Given the description of an element on the screen output the (x, y) to click on. 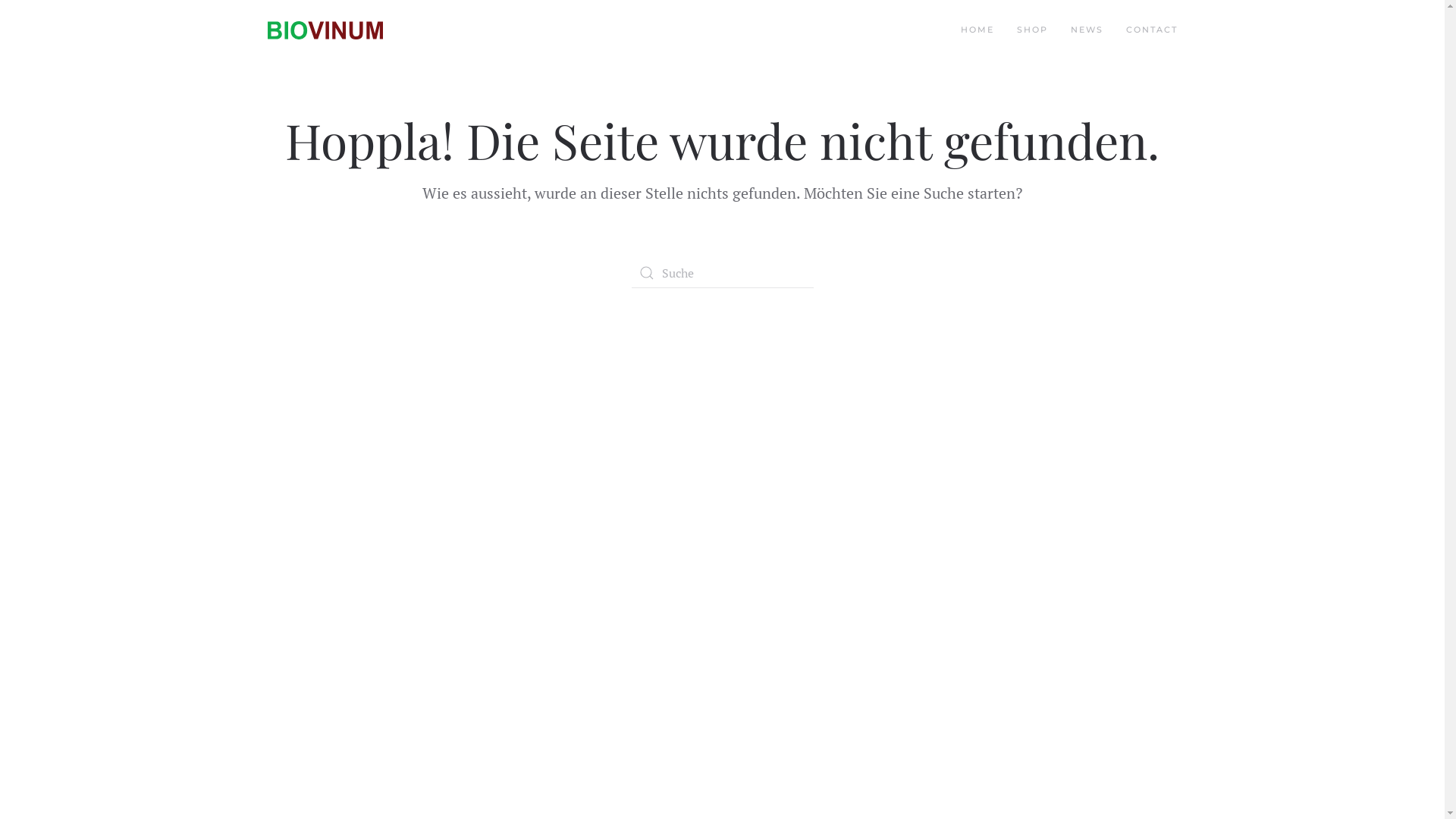
NEWS Element type: text (1086, 30)
HOME Element type: text (976, 30)
CONTACT Element type: text (1150, 30)
SHOP Element type: text (1031, 30)
